Given the description of an element on the screen output the (x, y) to click on. 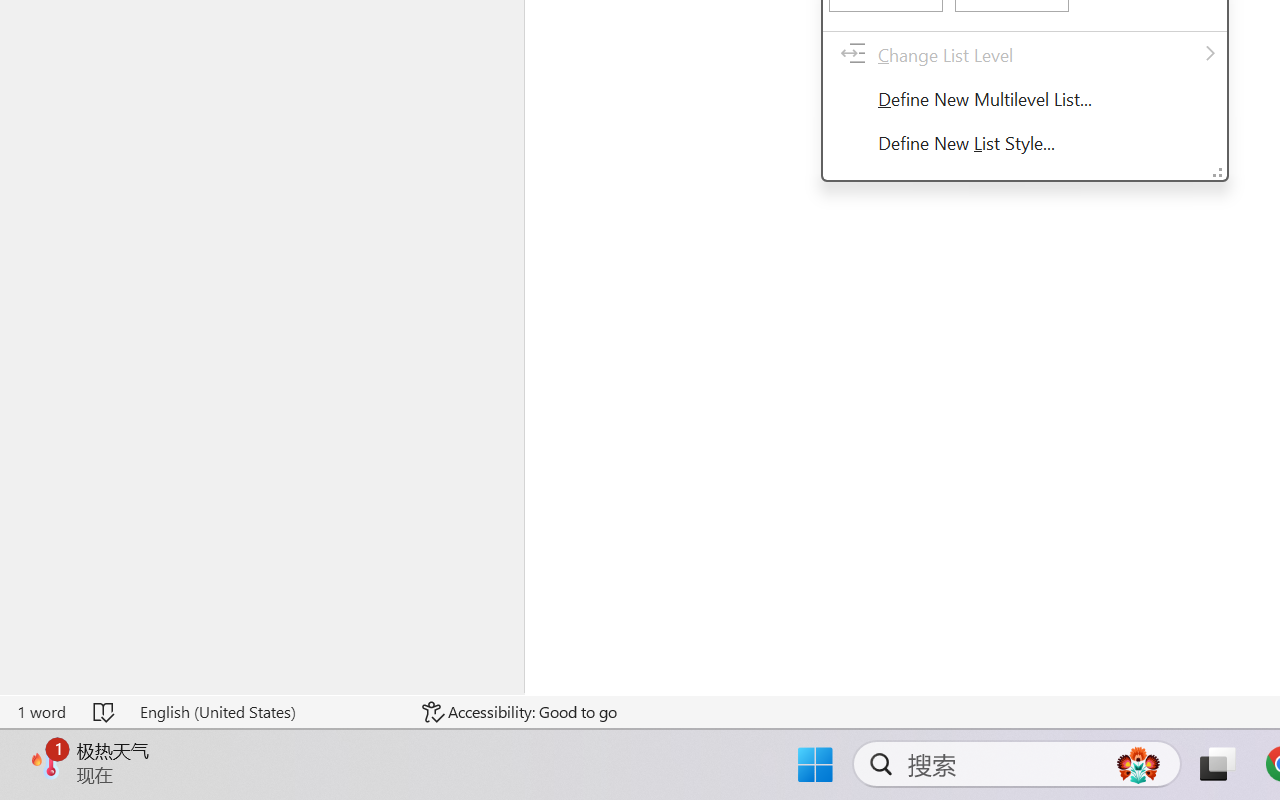
AutomationID: BadgeAnchorLargeTicker (46, 762)
Spelling and Grammar Check No Errors (105, 712)
AutomationID: DynamicSearchBoxGleamImage (1138, 764)
Word Count 1 word (41, 712)
Language English (United States) (267, 712)
Accessibility Checker Accessibility: Good to go (519, 712)
